Given the description of an element on the screen output the (x, y) to click on. 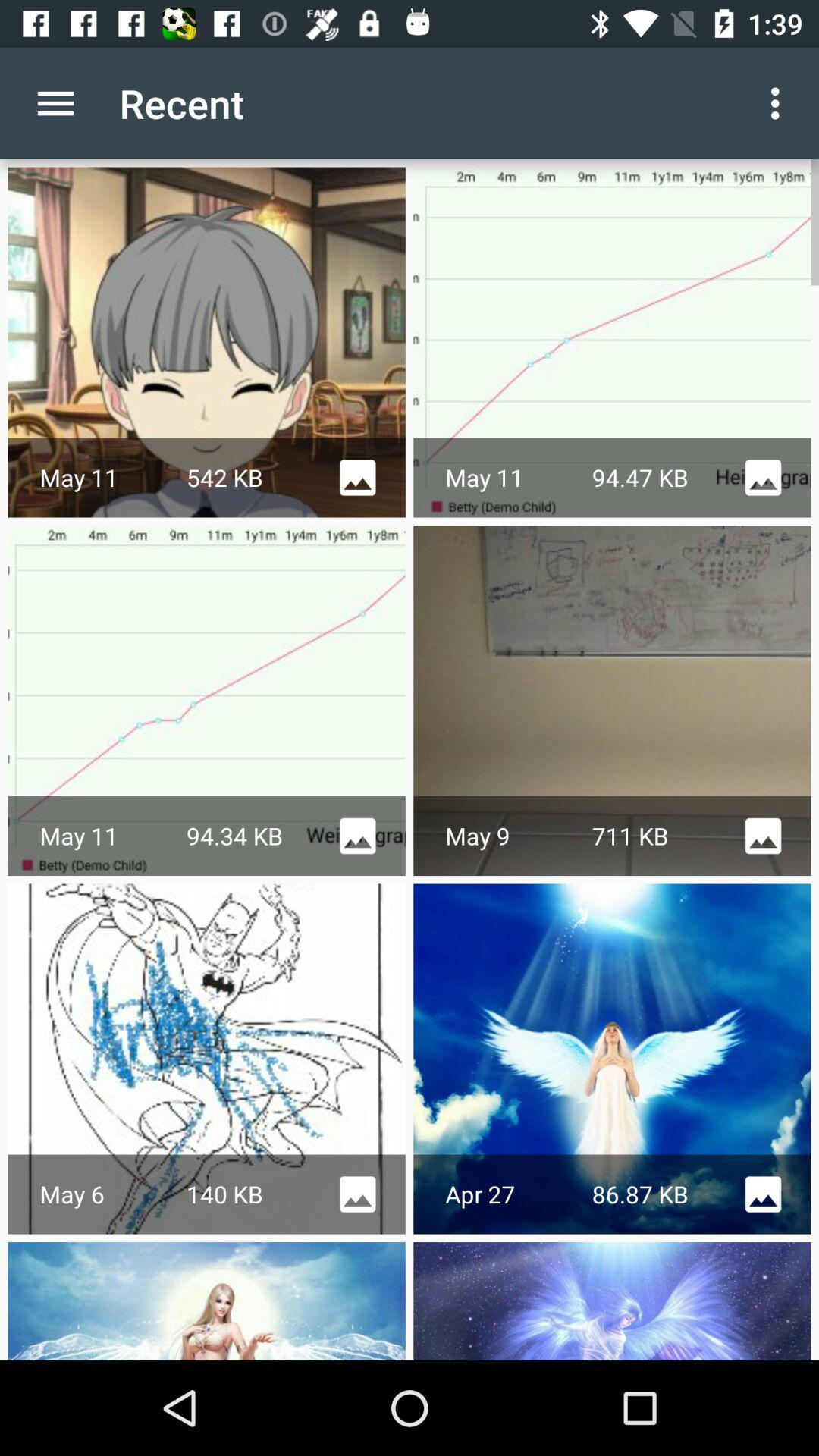
choose app to the left of recent (55, 103)
